Given the description of an element on the screen output the (x, y) to click on. 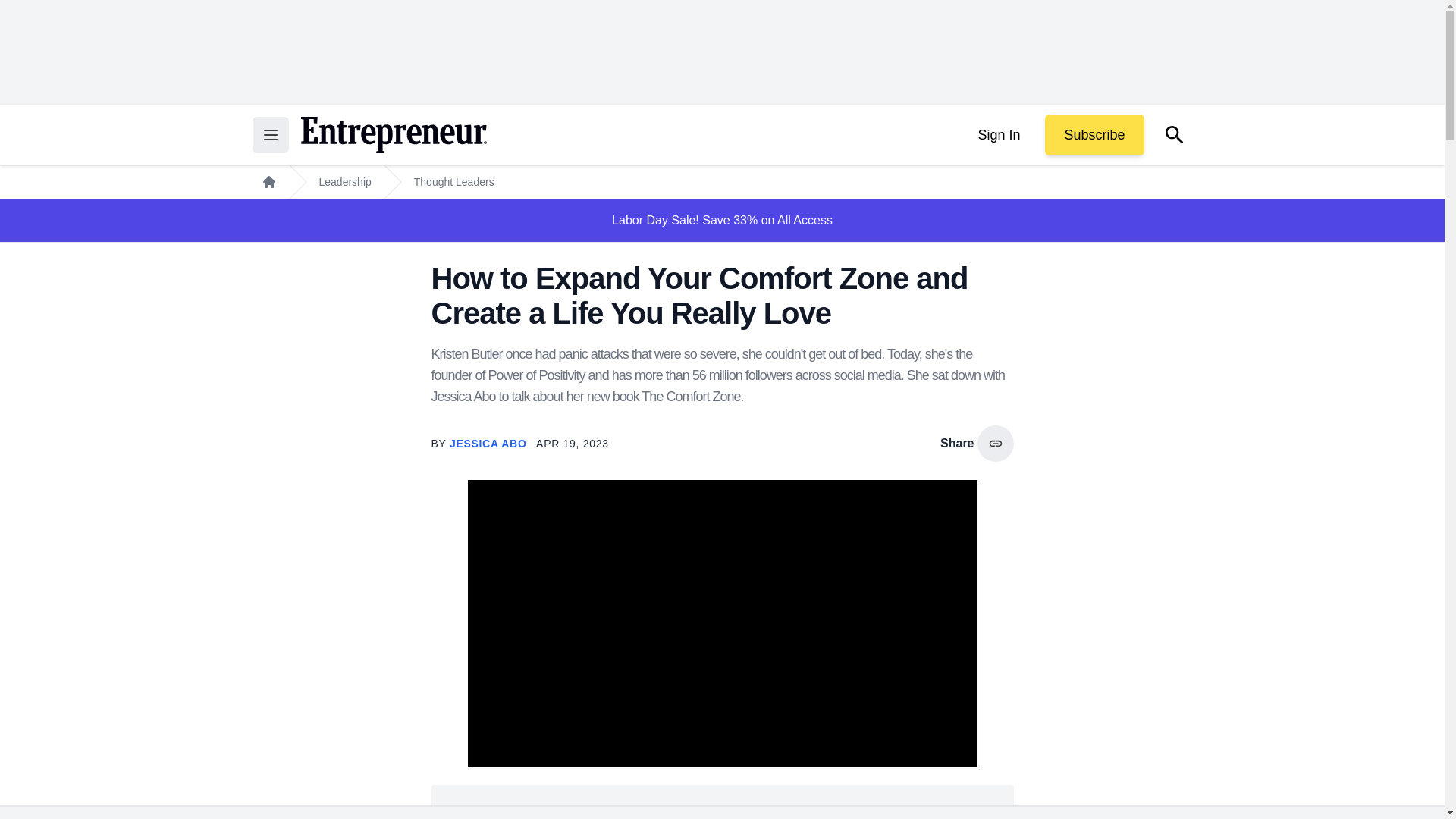
Sign In (998, 134)
copy (994, 443)
Subscribe (1093, 134)
Return to the home page (392, 135)
